Given the description of an element on the screen output the (x, y) to click on. 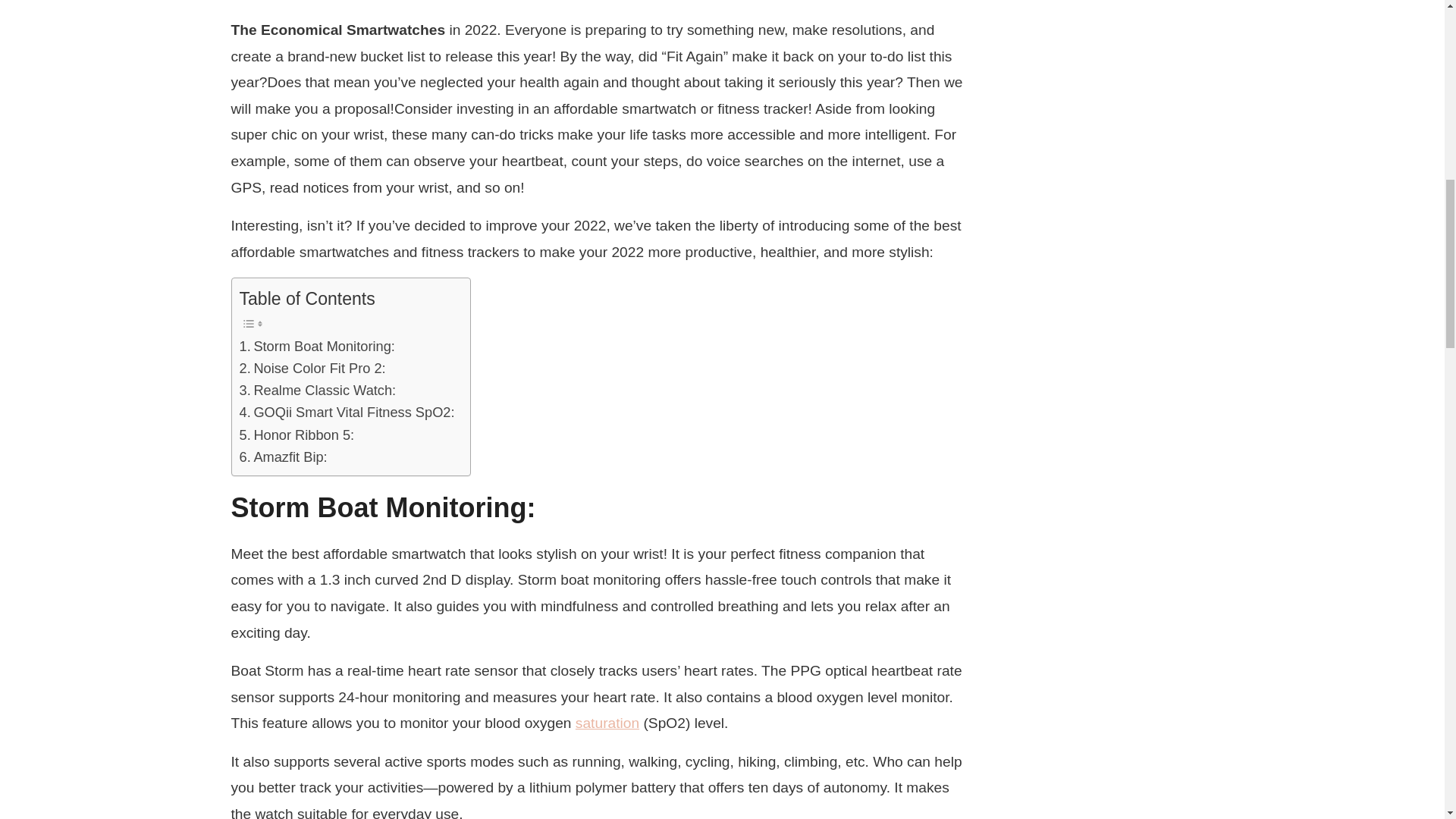
Noise Color Fit Pro 2: (312, 368)
GOQii Smart Vital Fitness SpO2: (347, 412)
Amazfit Bip: (283, 456)
Realme Classic Watch: (318, 390)
saturation (607, 722)
Honor Ribbon 5: (297, 434)
Storm Boat Monitoring: (317, 345)
Noise Color Fit Pro 2: (312, 368)
Realme Classic Watch: (318, 390)
Storm Boat Monitoring: (317, 345)
Amazfit Bip: (283, 456)
GOQii Smart Vital Fitness SpO2: (347, 412)
Honor Ribbon 5: (297, 434)
